Given the description of an element on the screen output the (x, y) to click on. 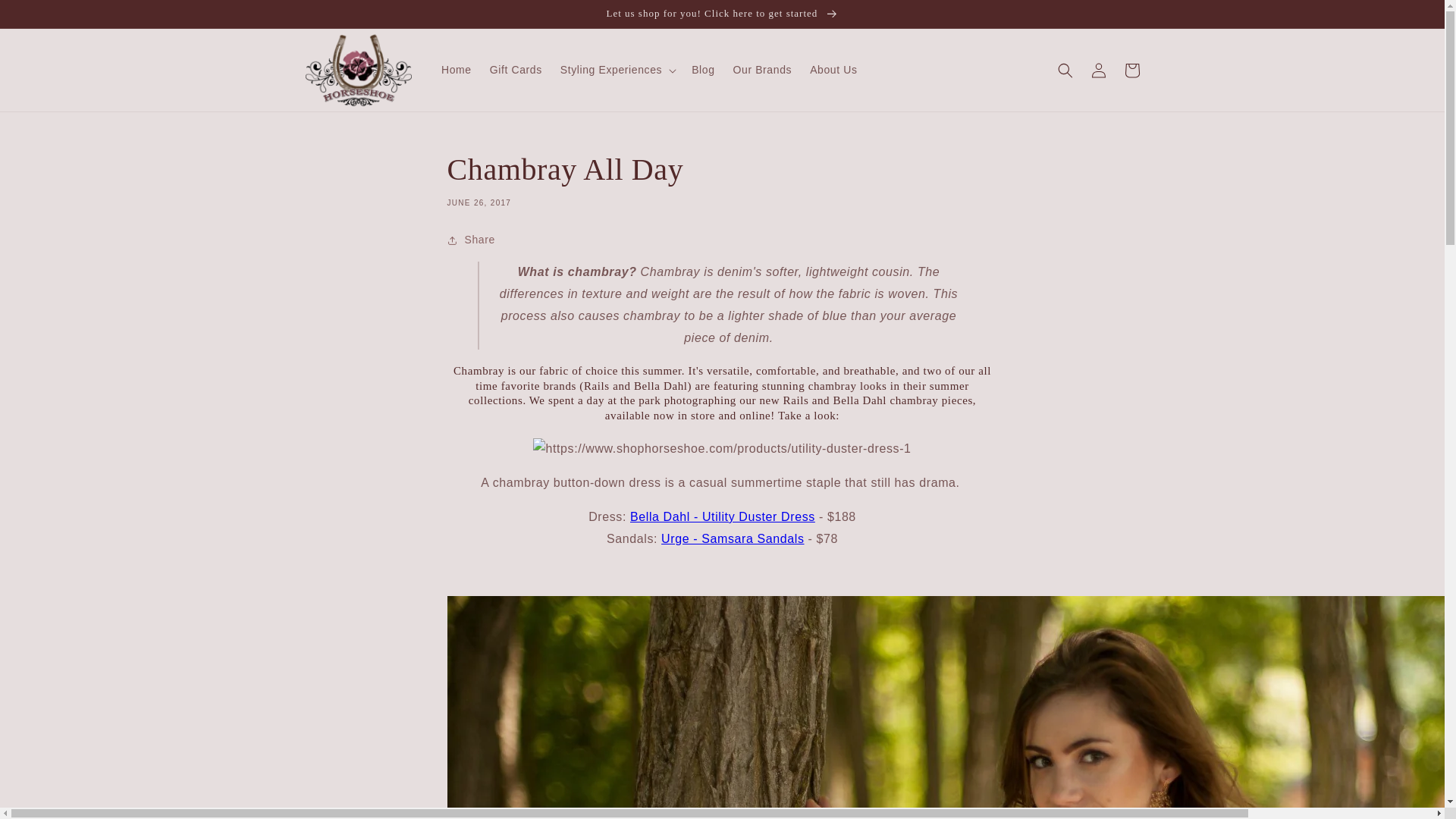
Home (456, 69)
Cart (1131, 70)
Urge - Samsara Sandals (732, 538)
About Us (833, 69)
Skip to content (45, 17)
Bella Dahl - Utility Duster Dress (722, 516)
Blog (702, 69)
Log in (1098, 70)
Gift Cards (515, 69)
Our Brands (762, 69)
